Given the description of an element on the screen output the (x, y) to click on. 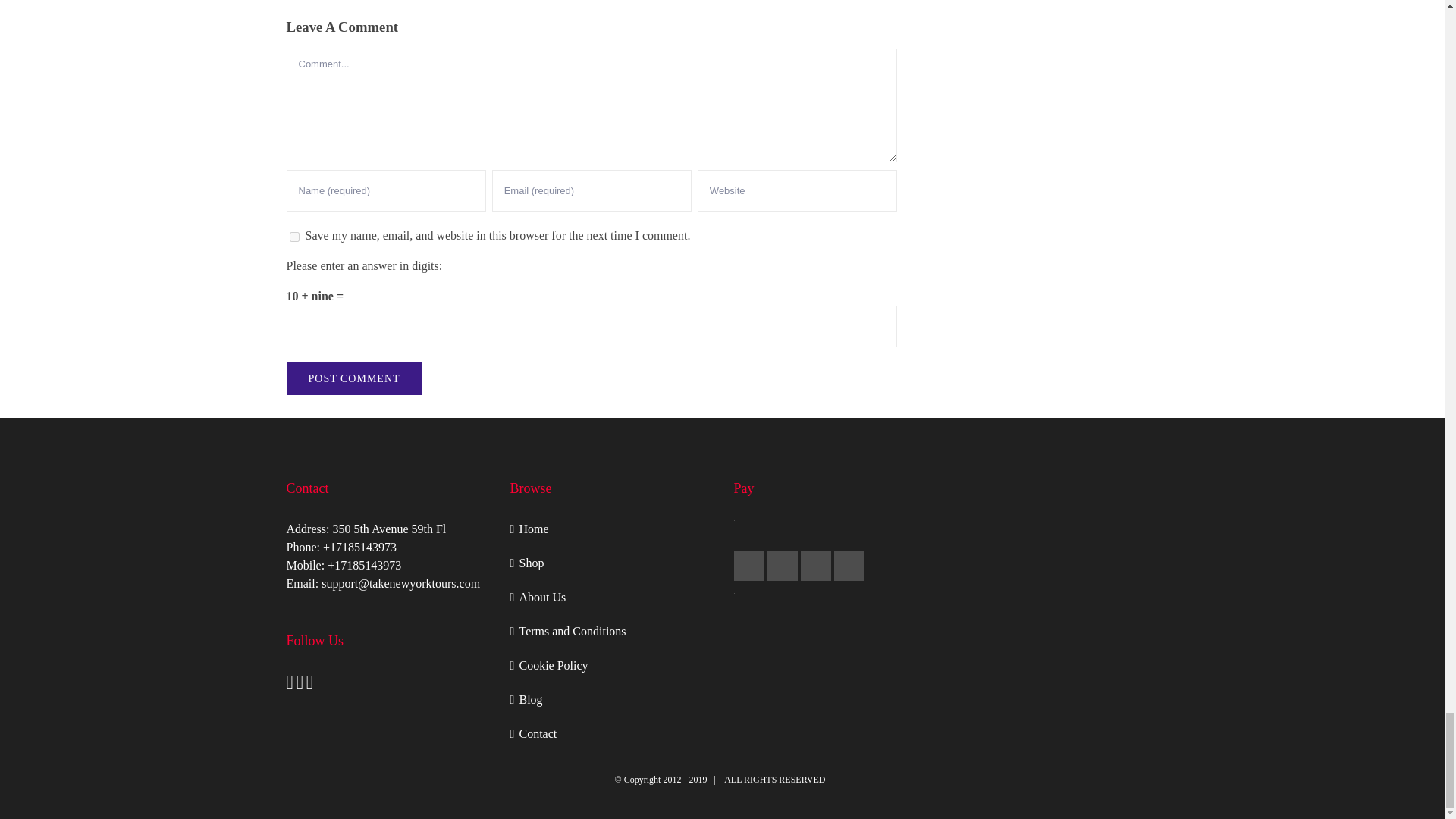
Post Comment (354, 378)
yes (294, 236)
